Given the description of an element on the screen output the (x, y) to click on. 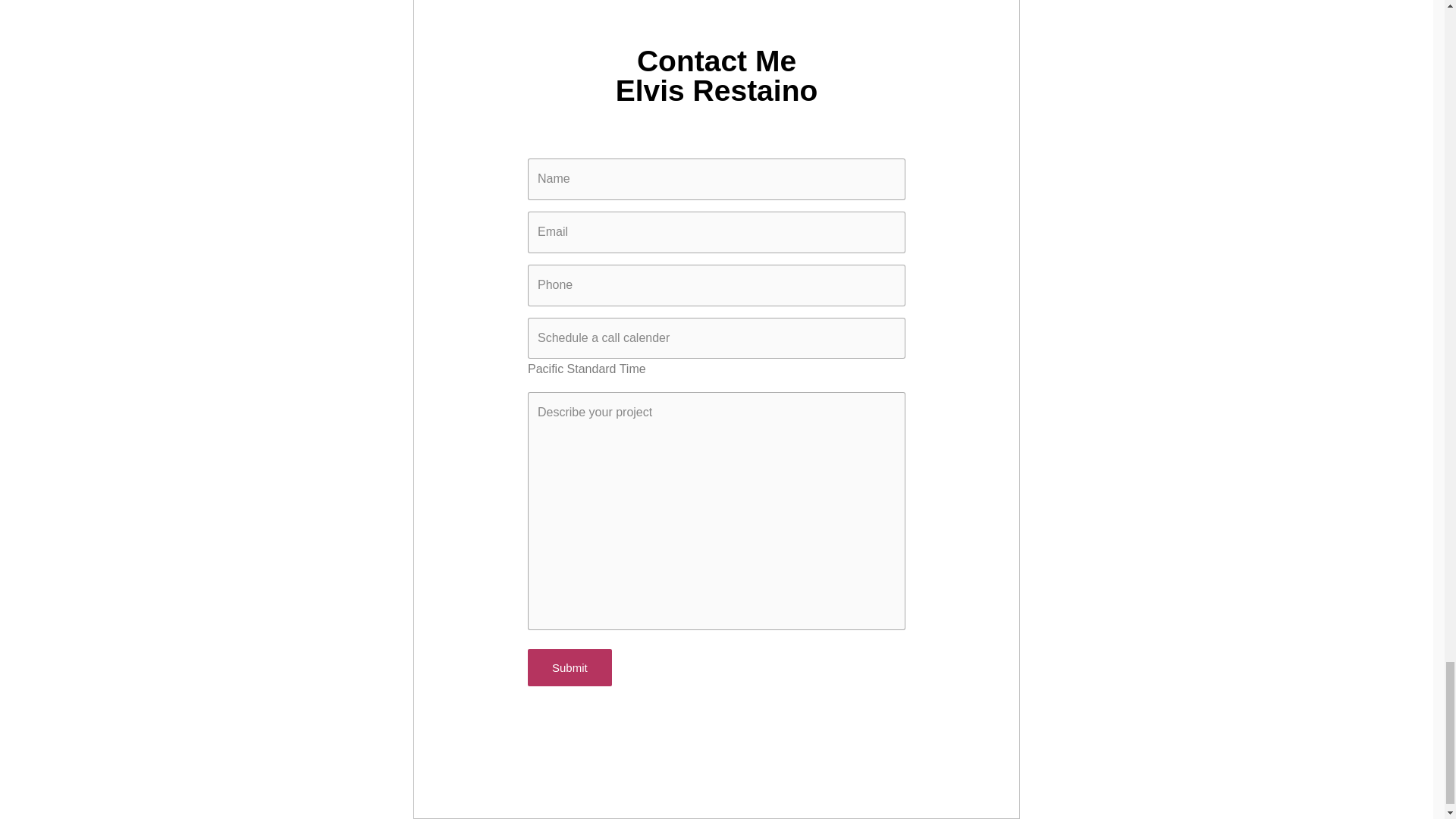
Submit (569, 667)
Submit (569, 667)
